Given the description of an element on the screen output the (x, y) to click on. 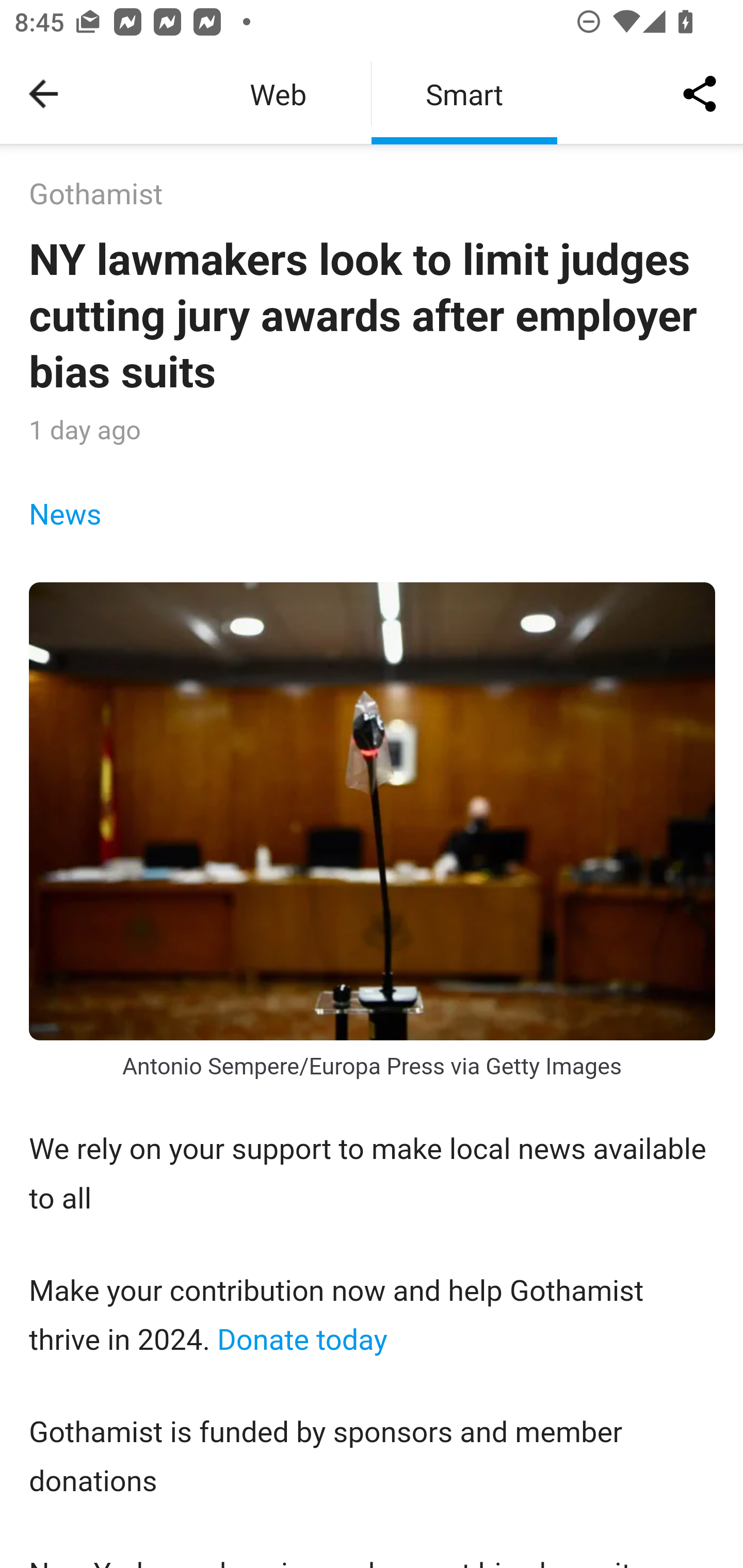
Web (277, 93)
Smart (464, 93)
Gothamist (96, 195)
News (65, 513)
?url=https%3A%2F%2Fcms.prod.nypr (372, 811)
Donate today (301, 1338)
